Given the description of an element on the screen output the (x, y) to click on. 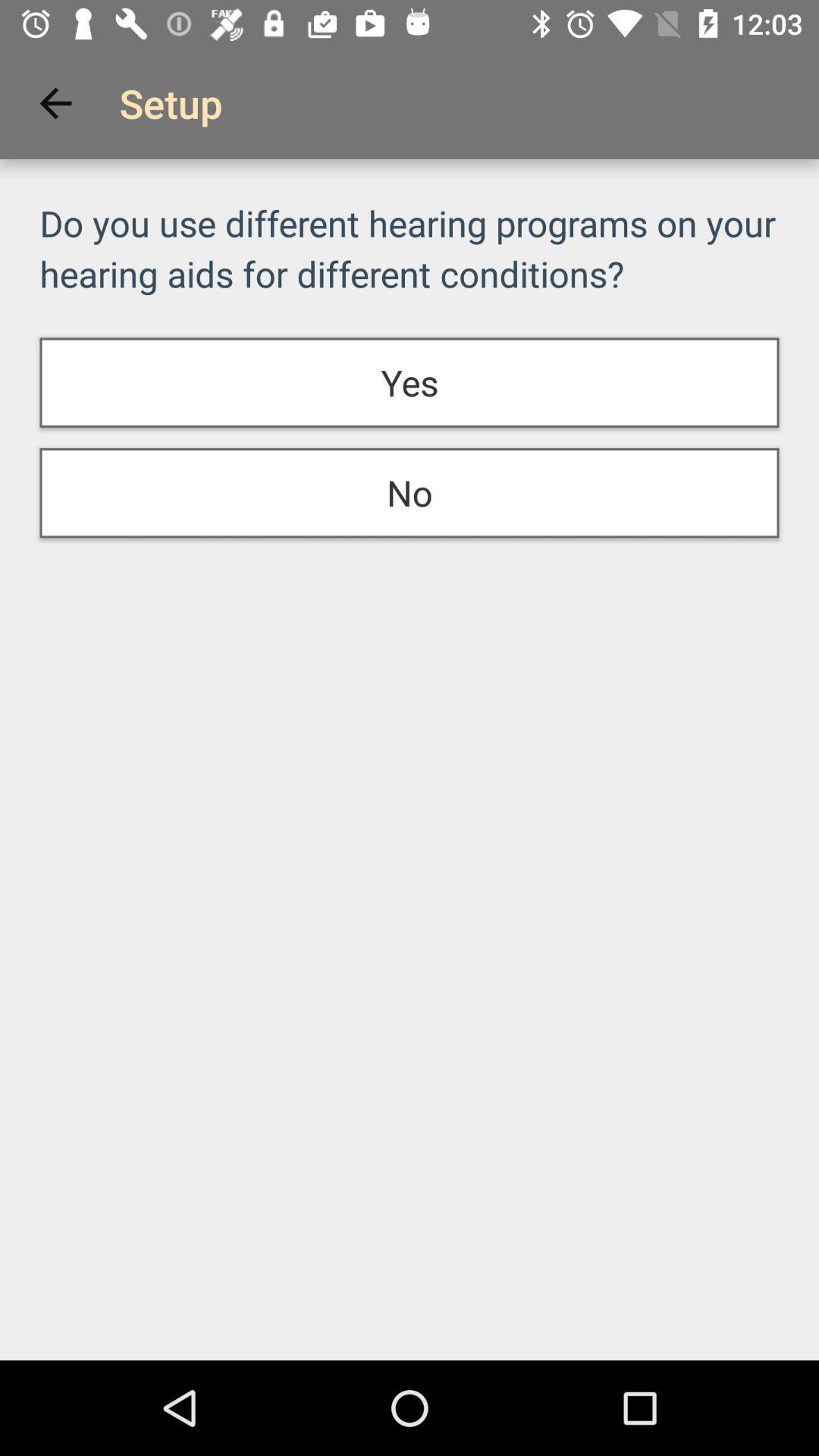
choose the item next to setup icon (55, 103)
